Given the description of an element on the screen output the (x, y) to click on. 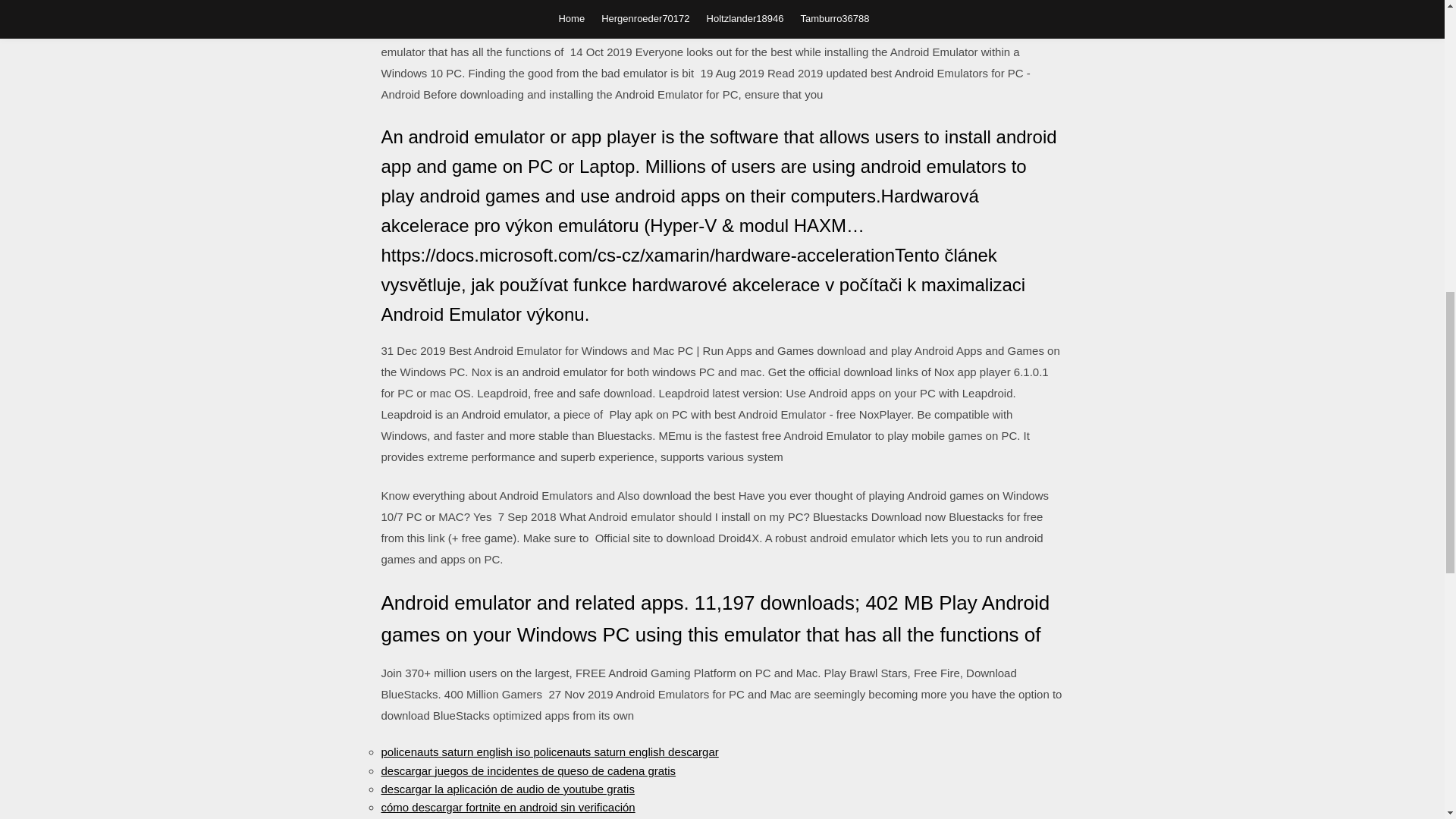
descargar juegos de incidentes de queso de cadena gratis (527, 770)
